Given the description of an element on the screen output the (x, y) to click on. 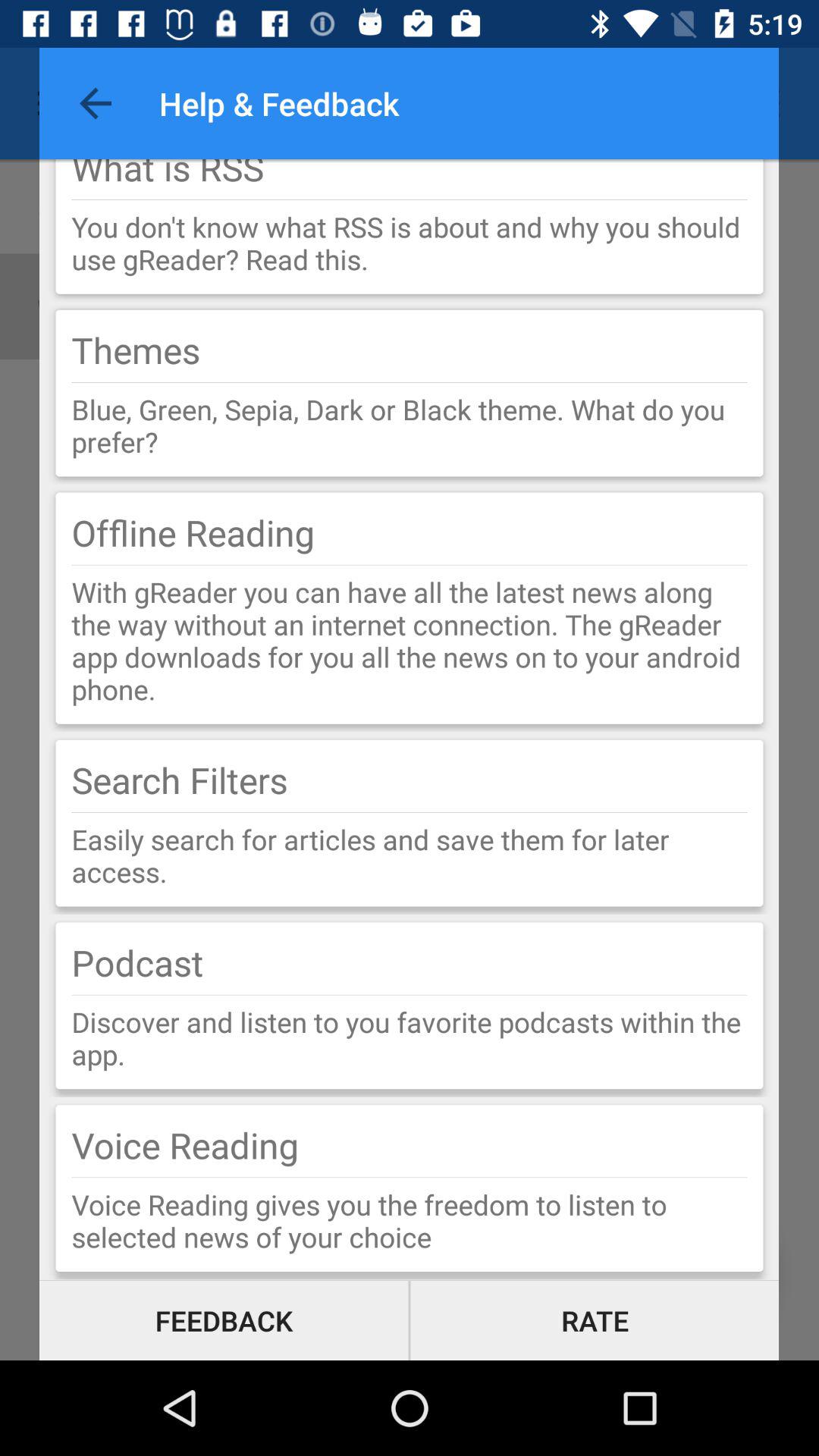
swipe to themes item (135, 349)
